Given the description of an element on the screen output the (x, y) to click on. 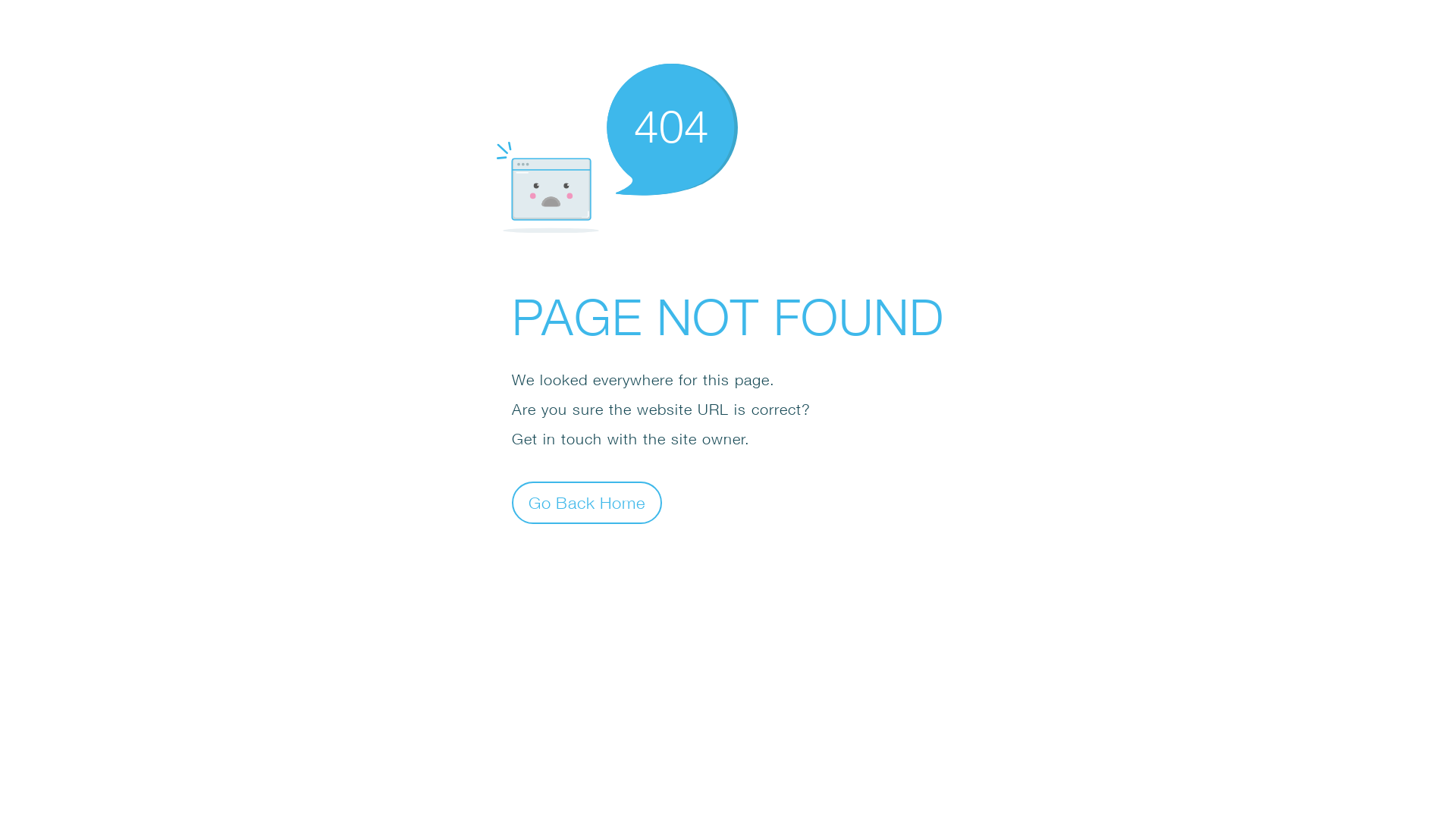
Go Back Home Element type: text (586, 502)
